Given the description of an element on the screen output the (x, y) to click on. 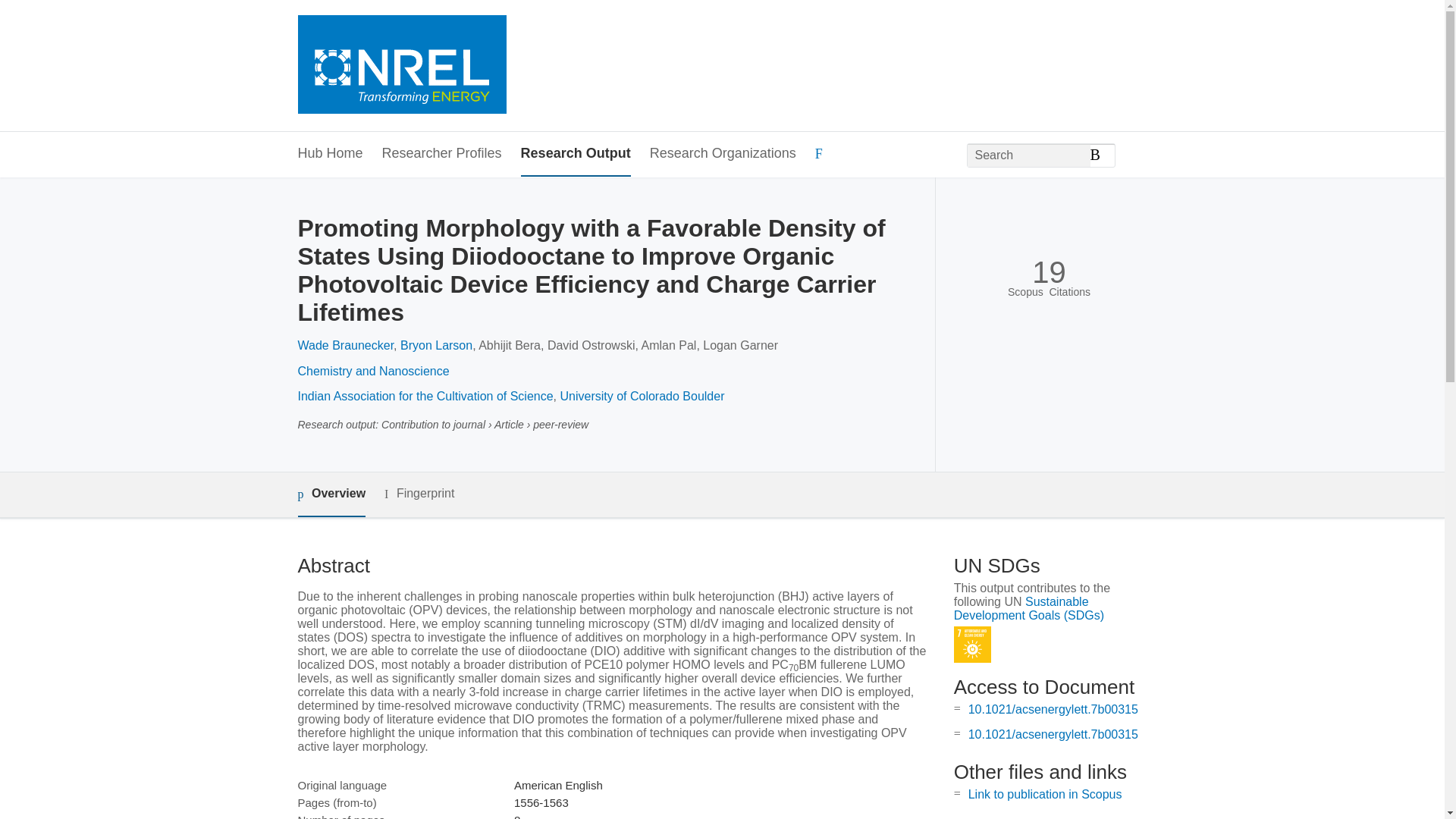
Wade Braunecker (345, 345)
Fingerprint (419, 493)
Overview (331, 494)
SDG 7 - Affordable and Clean Energy (972, 644)
Bryon Larson (435, 345)
Hub Home (329, 153)
Indian Association for the Cultivation of Science (425, 395)
Researcher Profiles (441, 153)
Research Output (575, 153)
University of Colorado Boulder (641, 395)
